Given the description of an element on the screen output the (x, y) to click on. 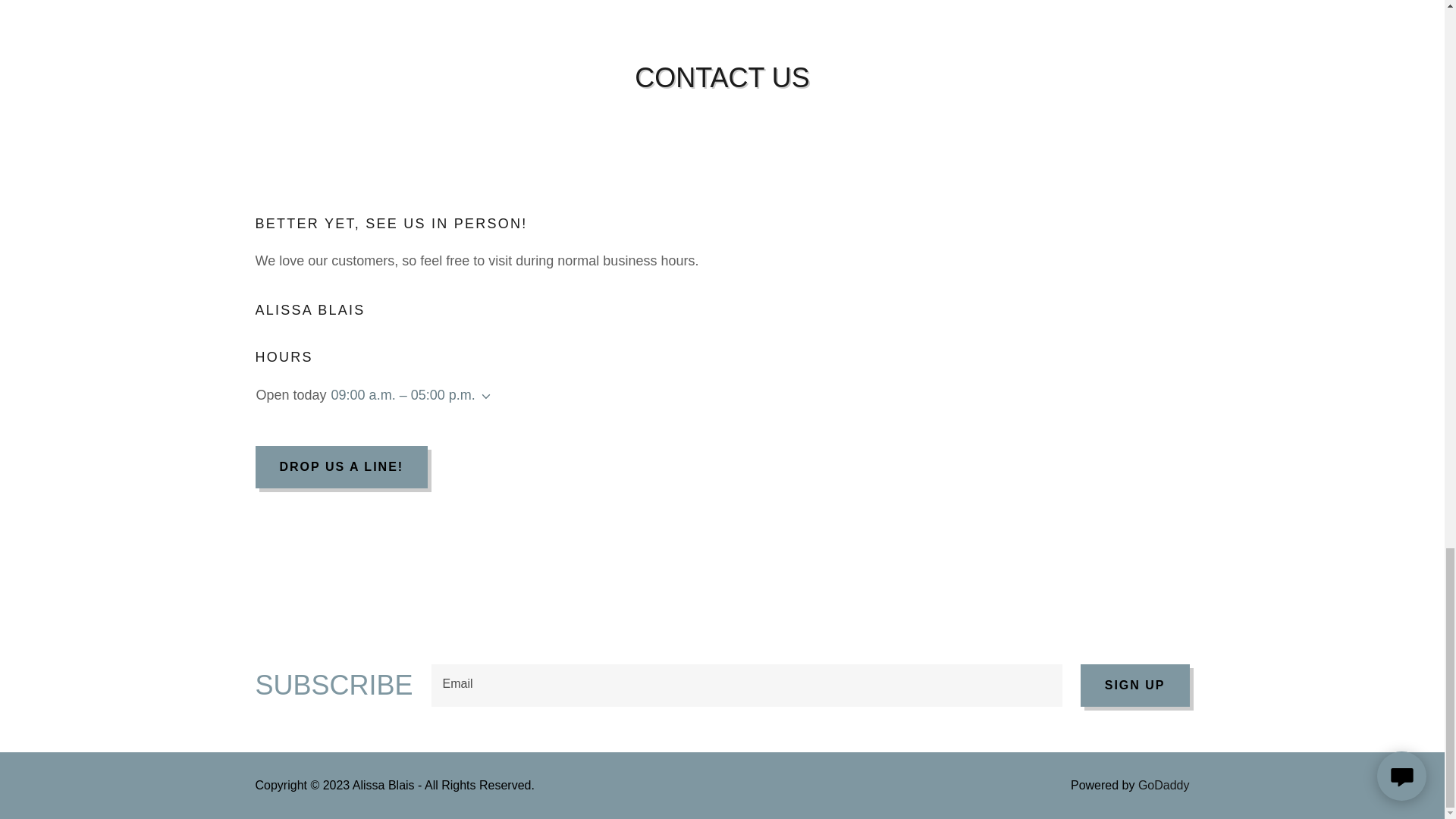
SIGN UP (1134, 685)
GoDaddy (1163, 784)
DROP US A LINE! (341, 466)
